Given the description of an element on the screen output the (x, y) to click on. 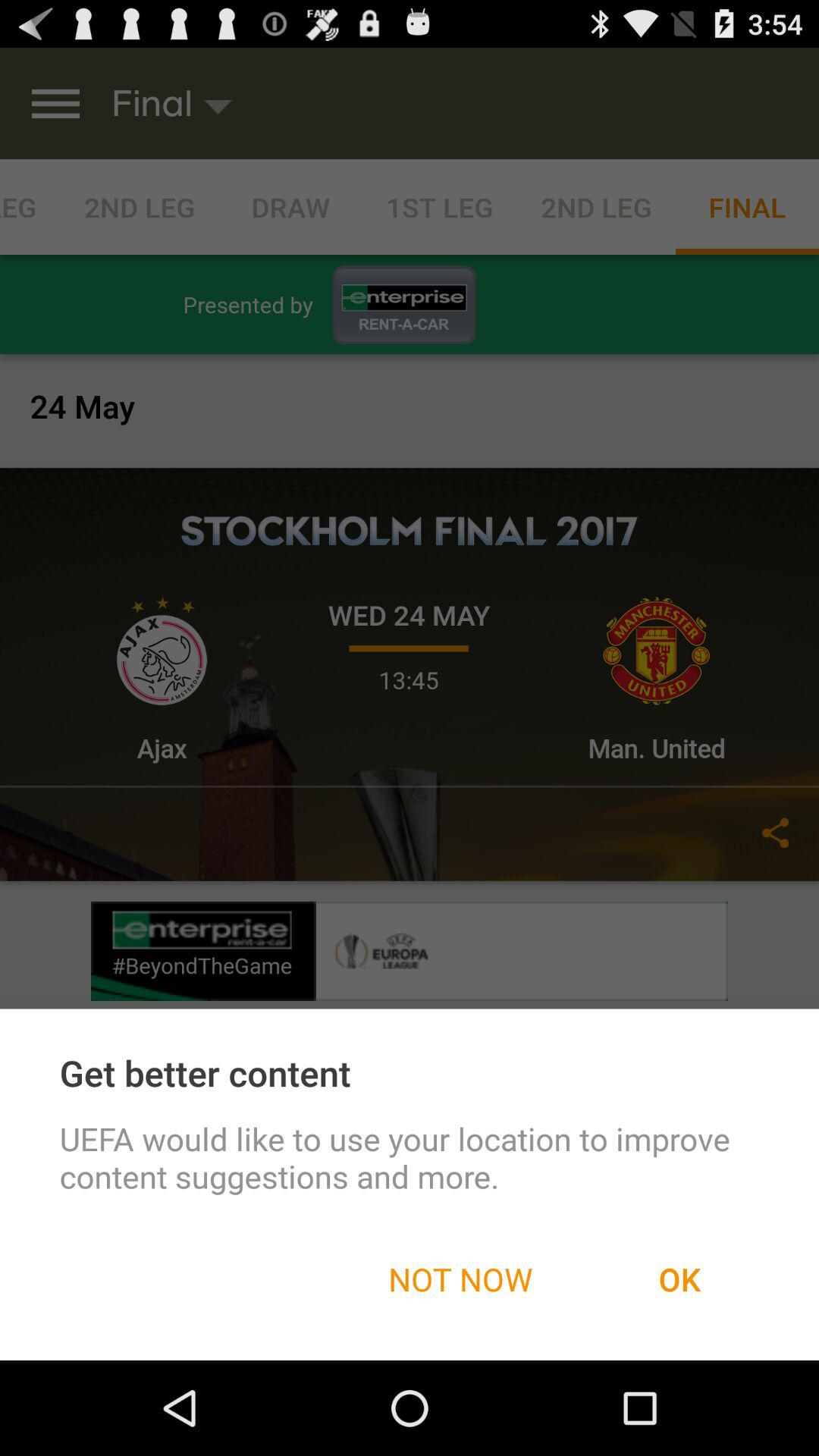
press icon to the left of the ok (460, 1278)
